Given the description of an element on the screen output the (x, y) to click on. 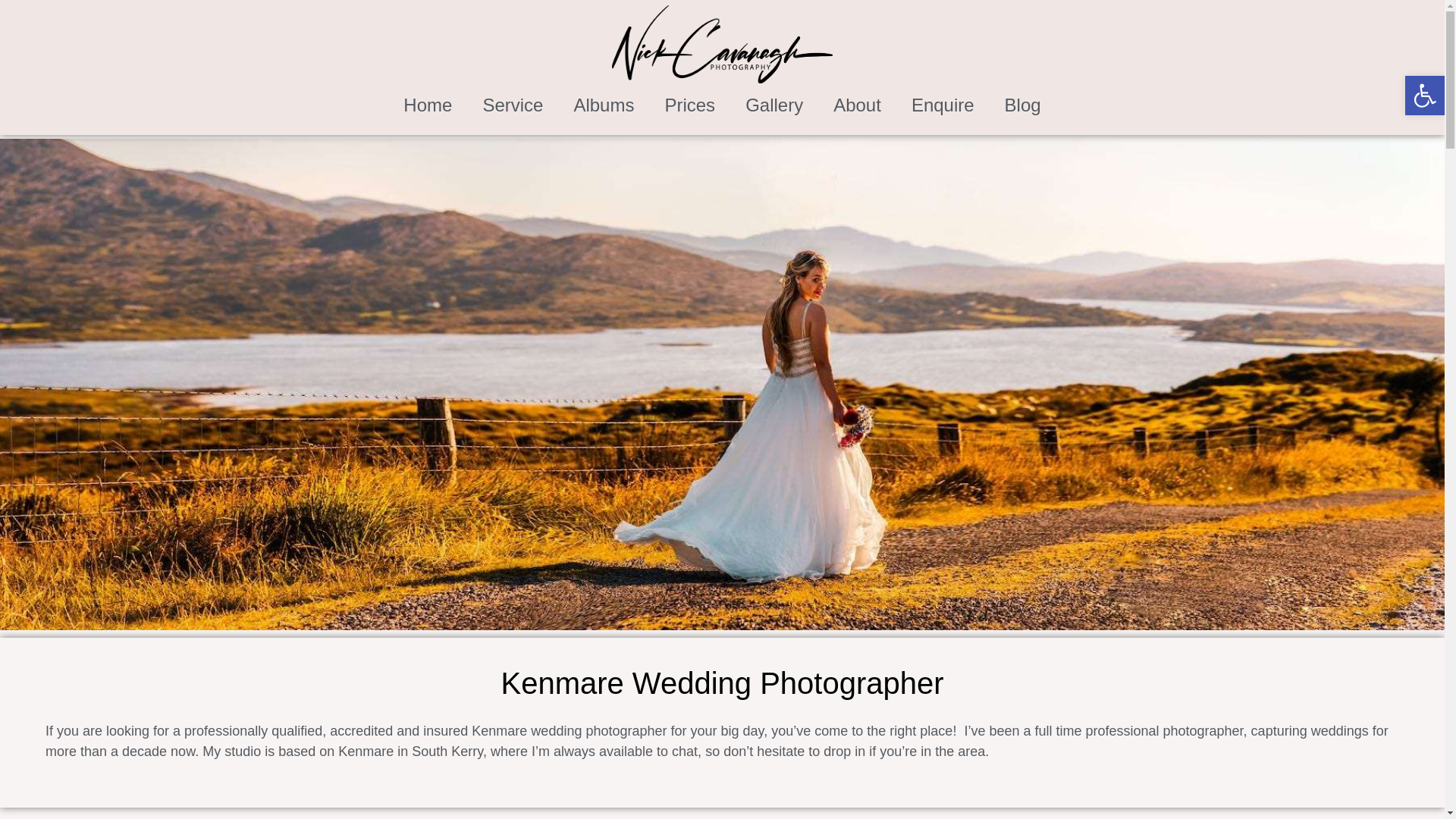
Service (512, 105)
About (857, 105)
Accessibility Tools (1424, 95)
Prices (689, 105)
Blog (1023, 105)
Home (427, 105)
Albums (603, 105)
Gallery (774, 105)
Enquire (943, 105)
